Given the description of an element on the screen output the (x, y) to click on. 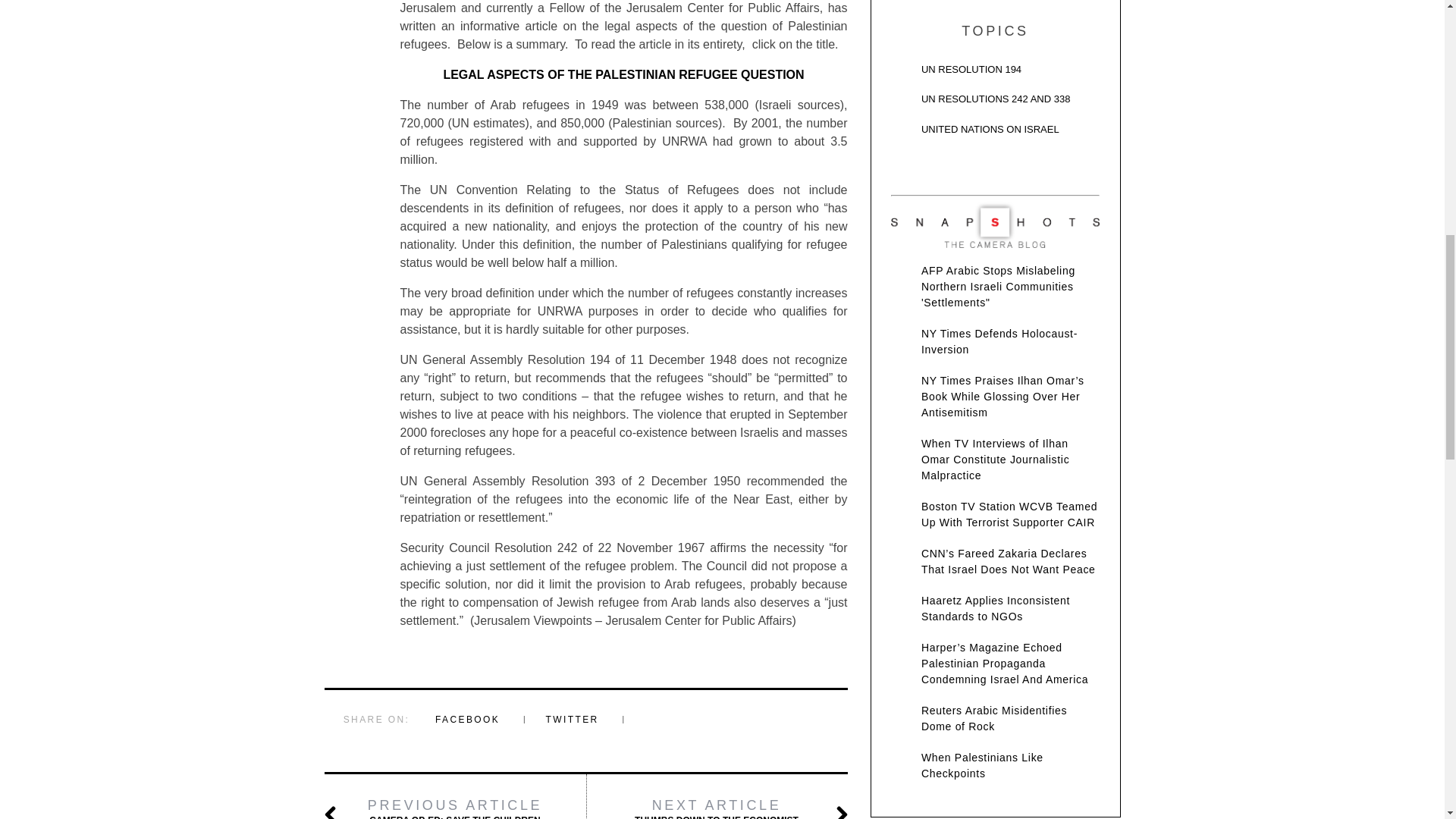
UN Resolutions 242 and 338 (995, 102)
UN Resolution 194 (995, 73)
United Nations on Israel (995, 133)
